Given the description of an element on the screen output the (x, y) to click on. 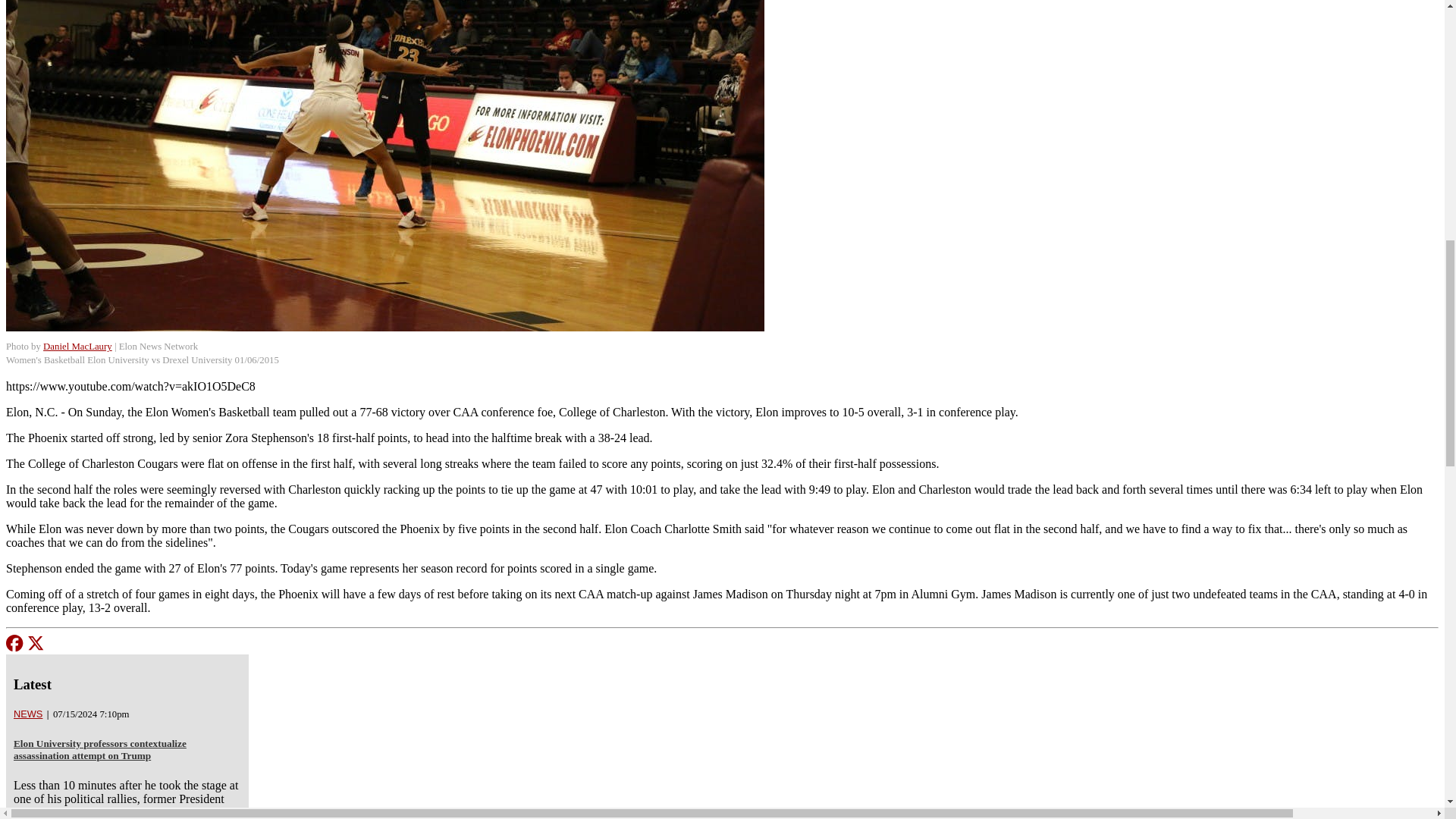
Daniel MacLaury (77, 346)
NEWS (27, 713)
